Given the description of an element on the screen output the (x, y) to click on. 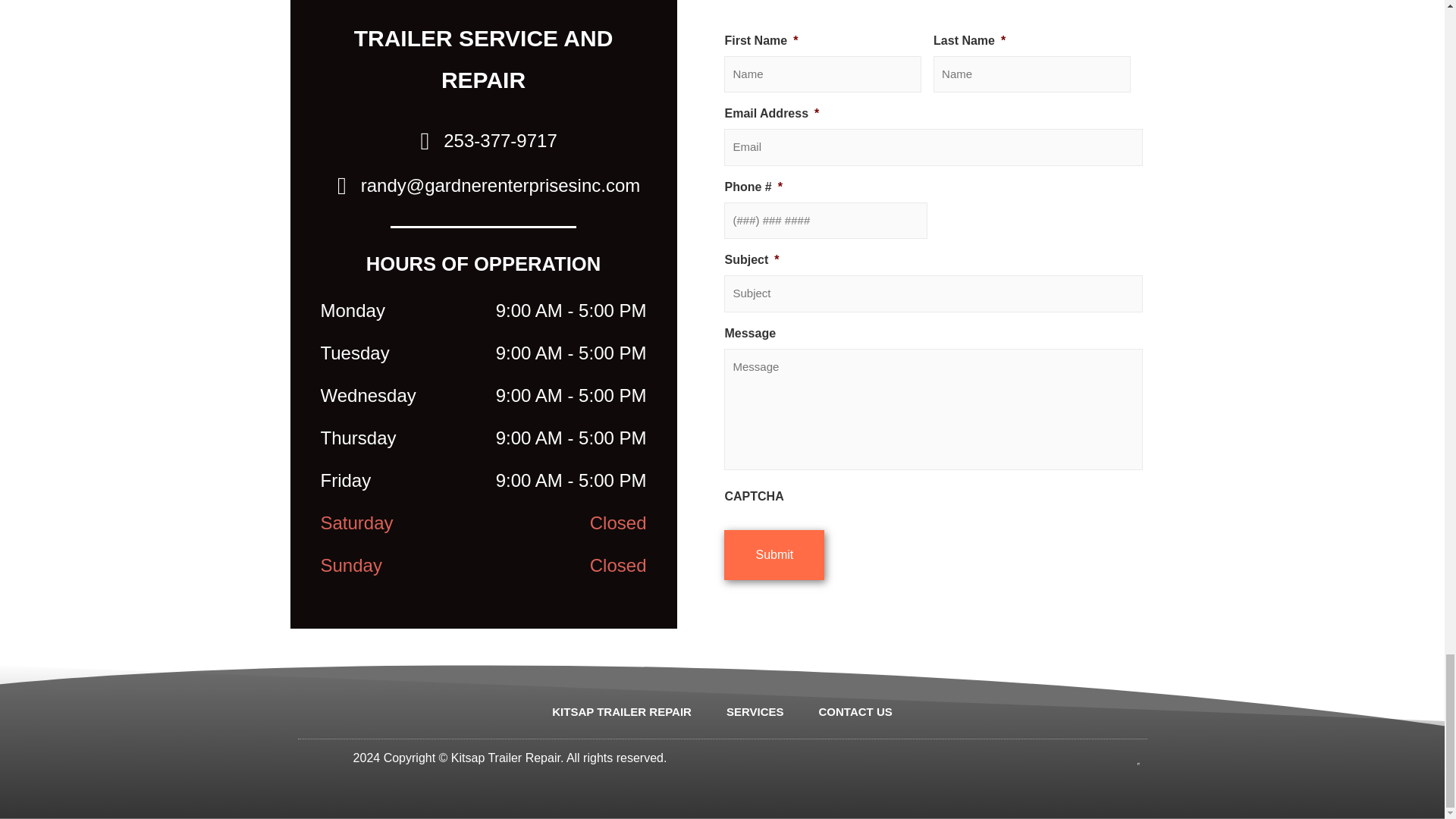
253-377-9717 (482, 140)
Submit (773, 554)
KITSAP TRAILER REPAIR (621, 712)
CONTACT US (855, 712)
SERVICES (755, 712)
Submit (773, 554)
